Given the description of an element on the screen output the (x, y) to click on. 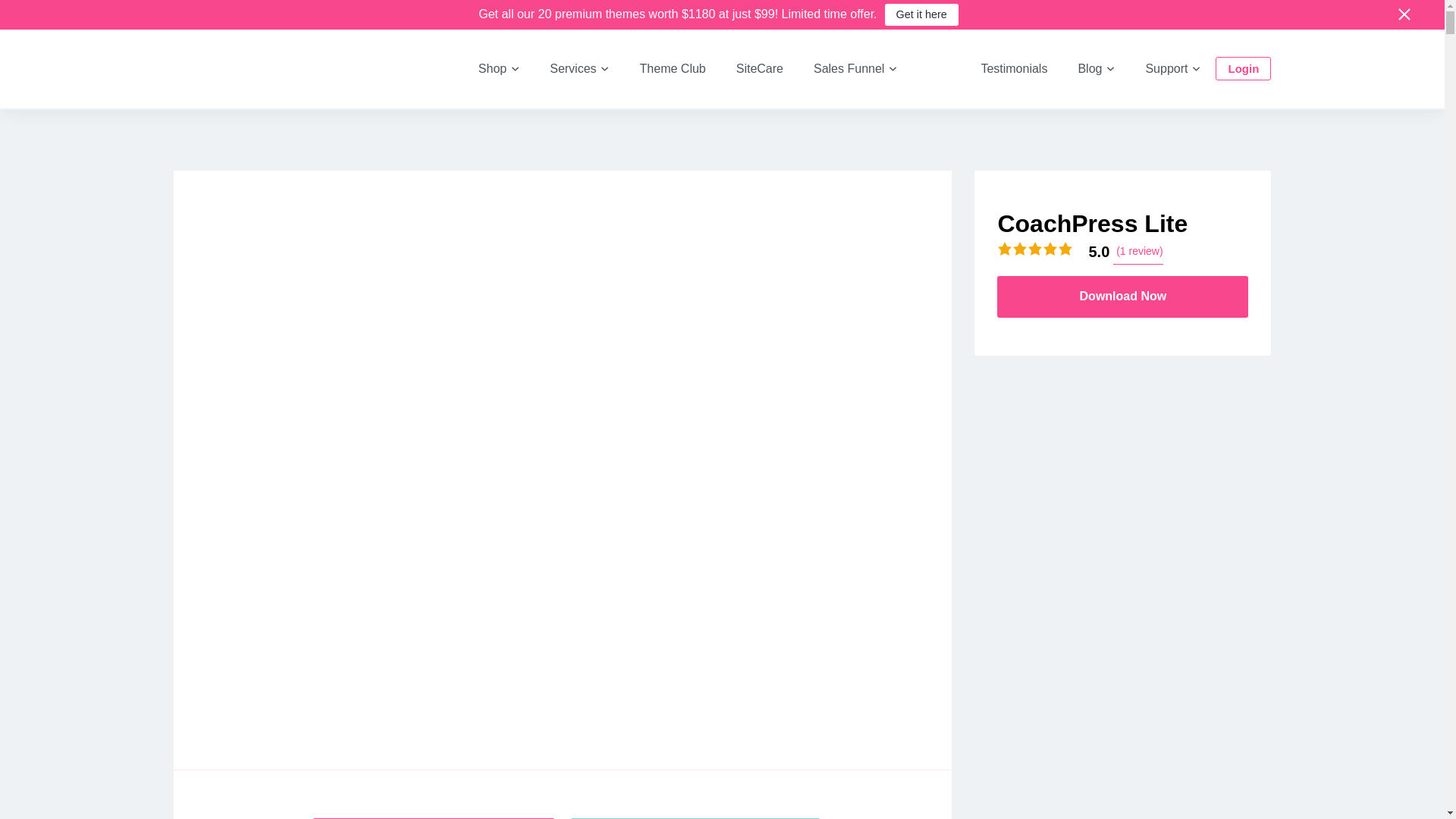
Get it here (921, 14)
Blossom Themes (242, 81)
Shop (498, 68)
